Given the description of an element on the screen output the (x, y) to click on. 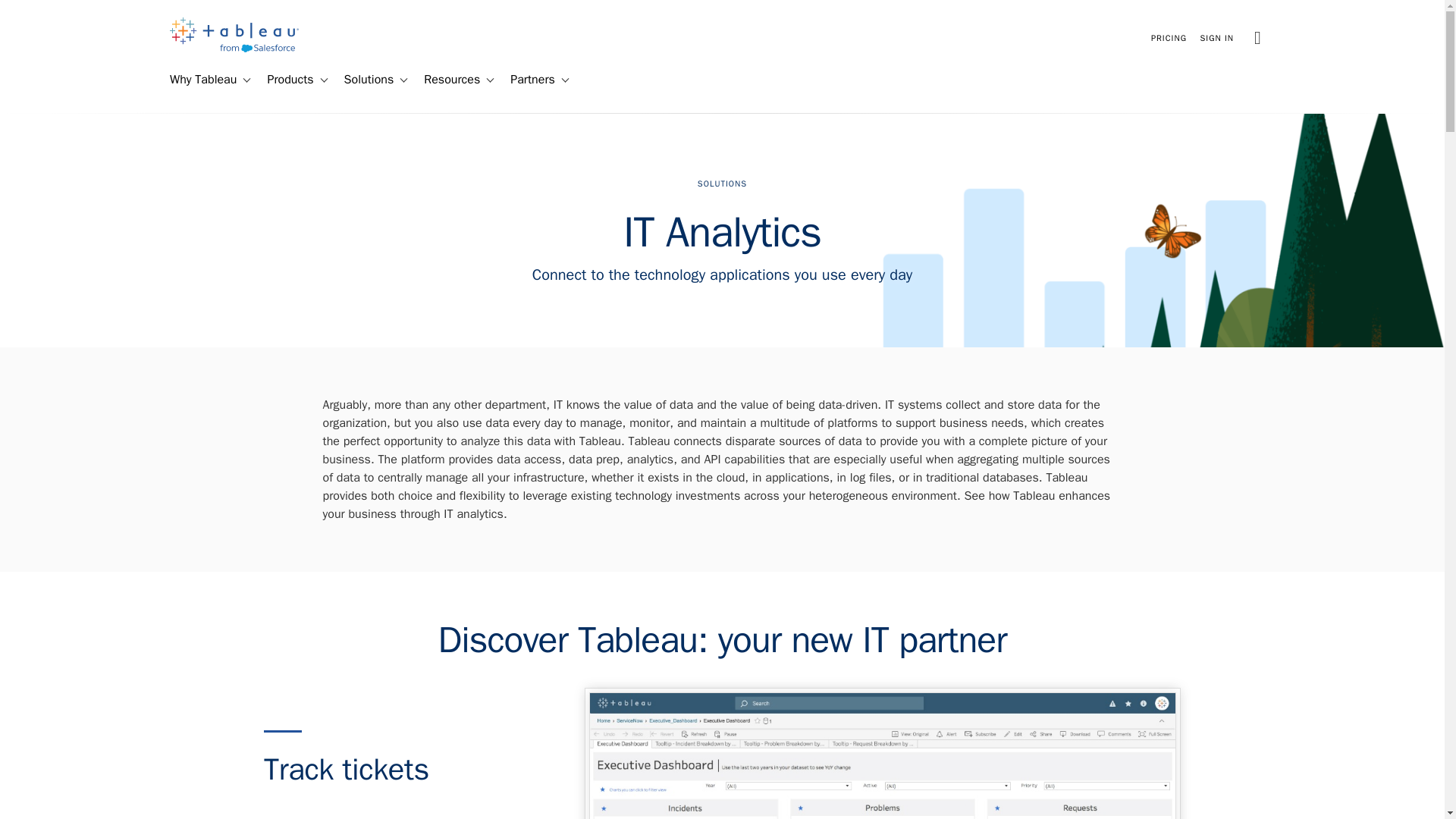
Why Tableau (196, 79)
Products (283, 79)
Solutions (362, 79)
Return to the Tableau Software home page (234, 48)
